Given the description of an element on the screen output the (x, y) to click on. 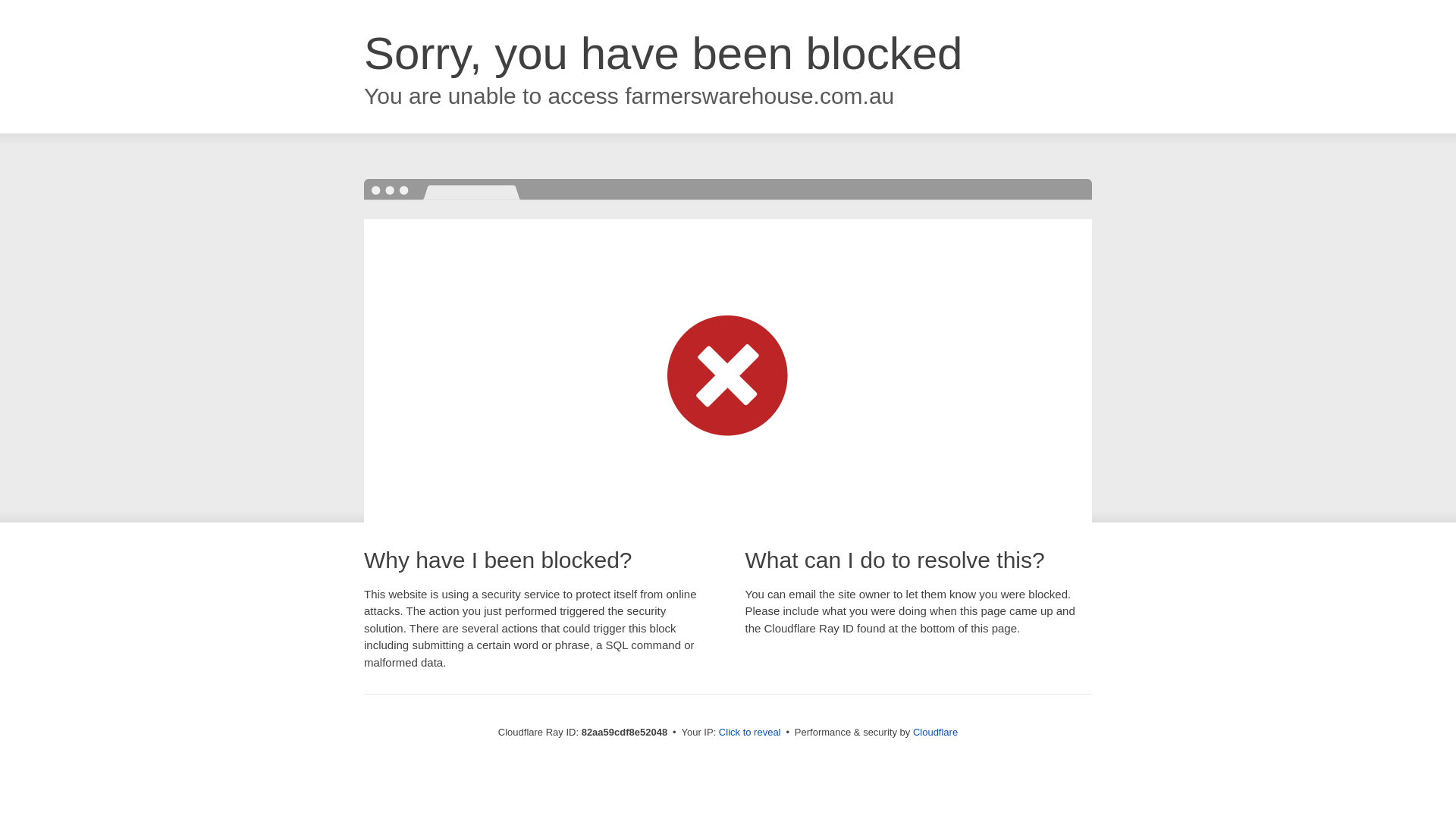
Cloudflare Element type: text (935, 731)
Click to reveal Element type: text (749, 732)
